Given the description of an element on the screen output the (x, y) to click on. 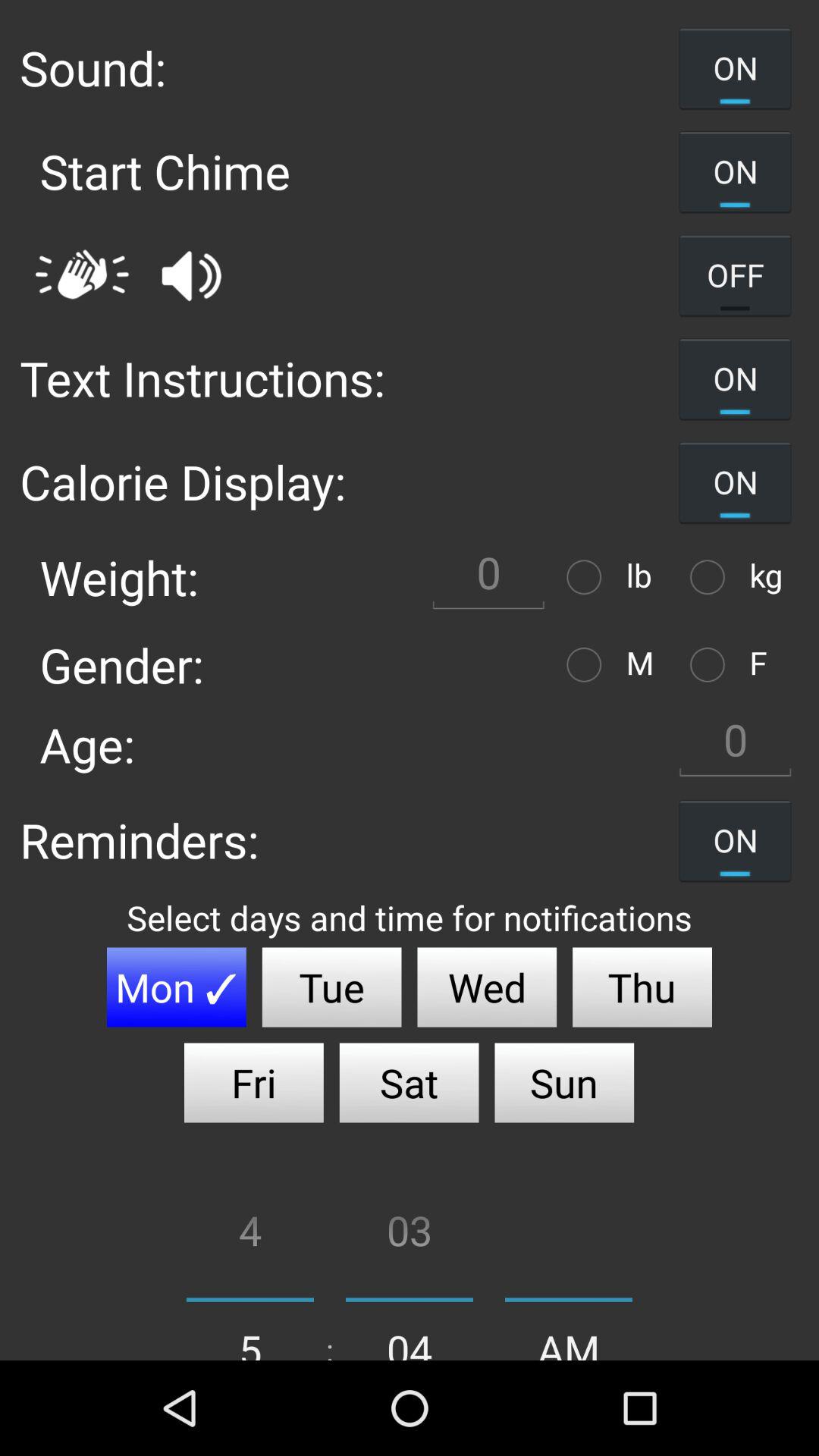
select m gender (587, 664)
